Given the description of an element on the screen output the (x, y) to click on. 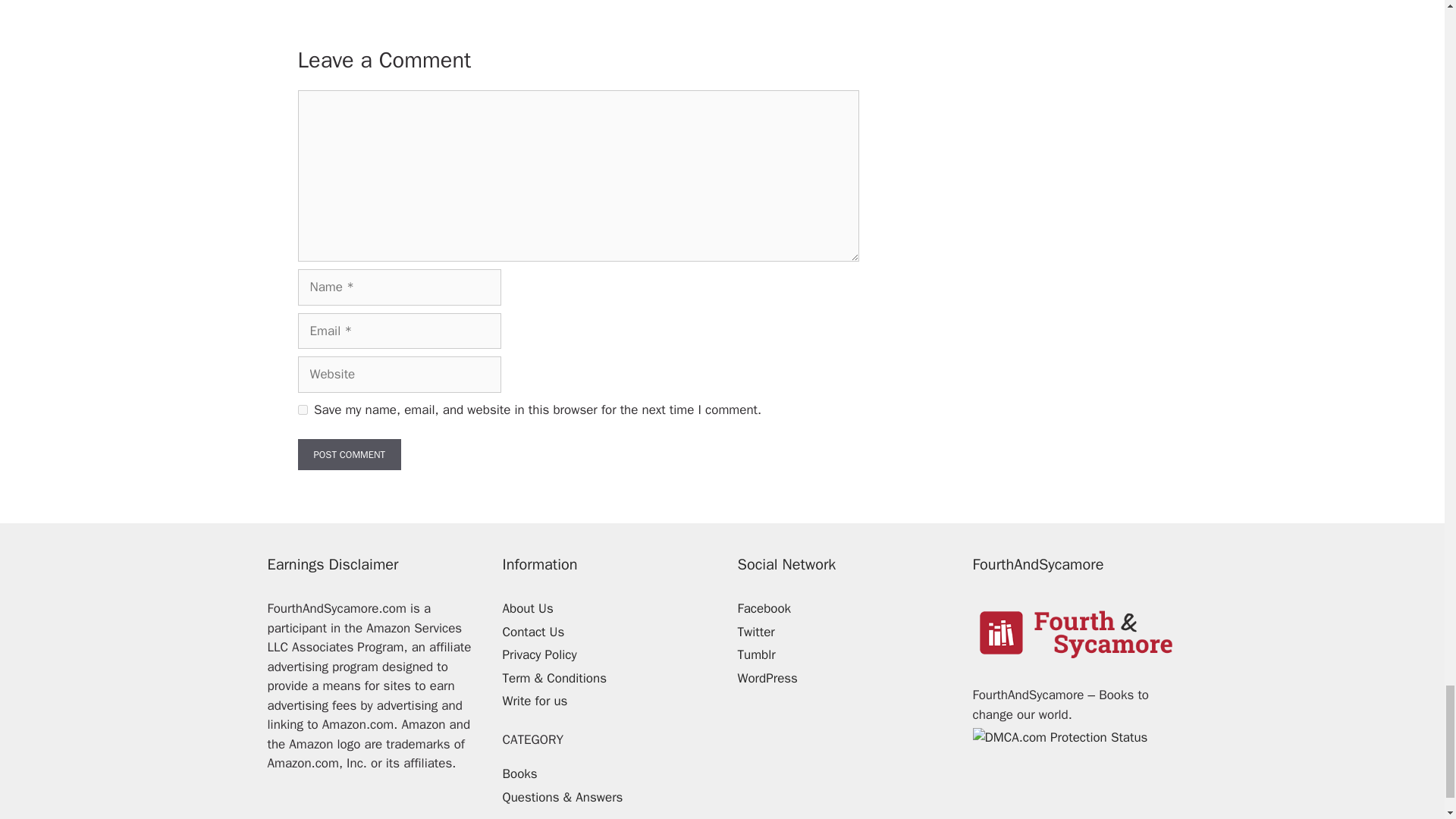
yes (302, 409)
Post Comment (349, 454)
DMCA.com Protection Status (1059, 737)
